Given the description of an element on the screen output the (x, y) to click on. 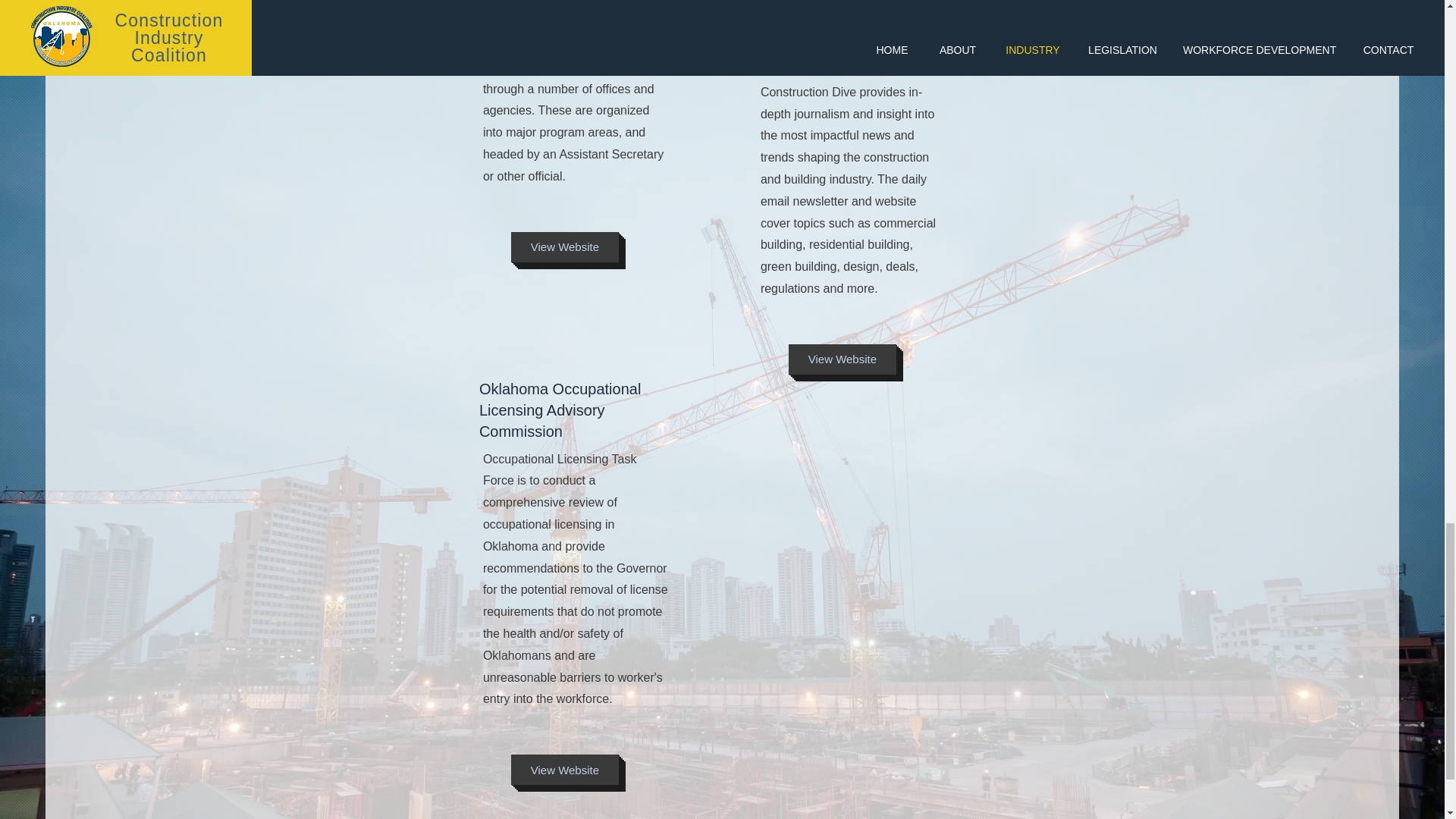
View Website (564, 769)
View Website (564, 246)
View Website (842, 358)
